Given the description of an element on the screen output the (x, y) to click on. 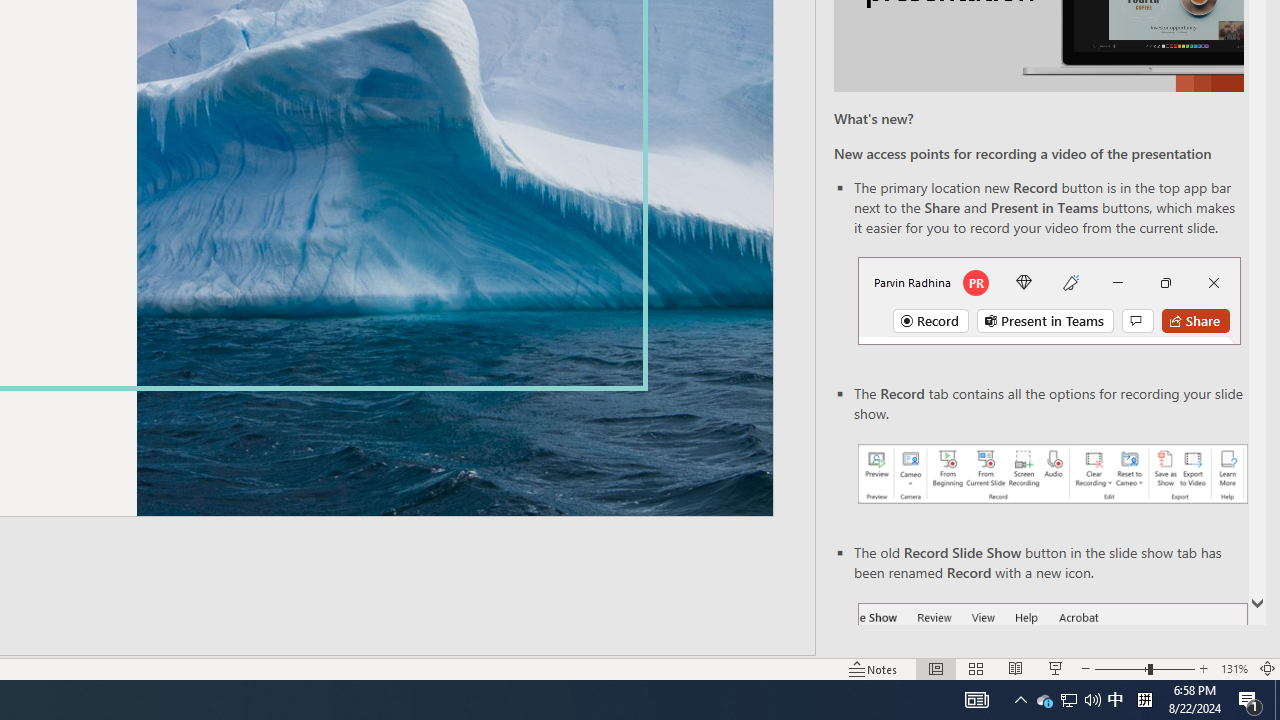
Normal (936, 668)
Notes  (874, 668)
Zoom 131% (1234, 668)
Zoom (1144, 668)
Slide Sorter (975, 668)
Slide Show (1055, 668)
Record your presentations screenshot one (1052, 473)
Zoom to Fit  (1267, 668)
Record button in top bar (1049, 300)
Zoom In (1204, 668)
Zoom Out (1121, 668)
Reading View (1015, 668)
